Given the description of an element on the screen output the (x, y) to click on. 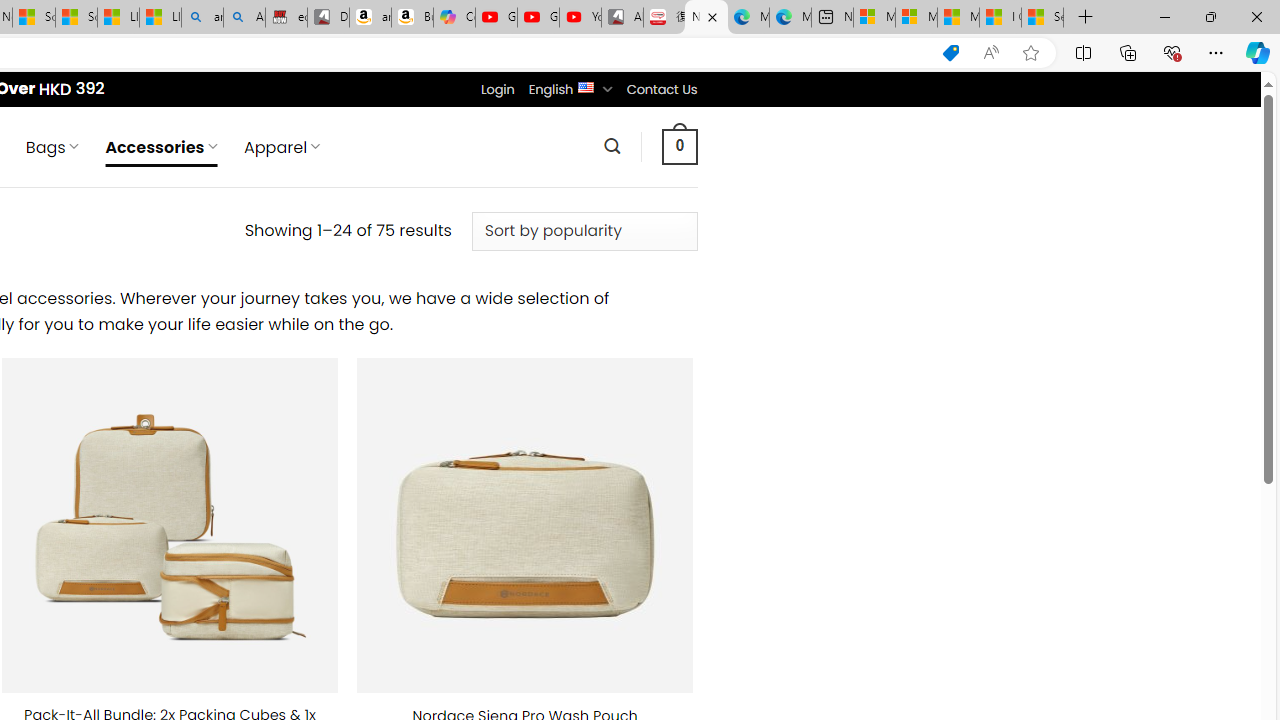
 0  (679, 146)
Login (497, 89)
Contact Us (661, 89)
